Given the description of an element on the screen output the (x, y) to click on. 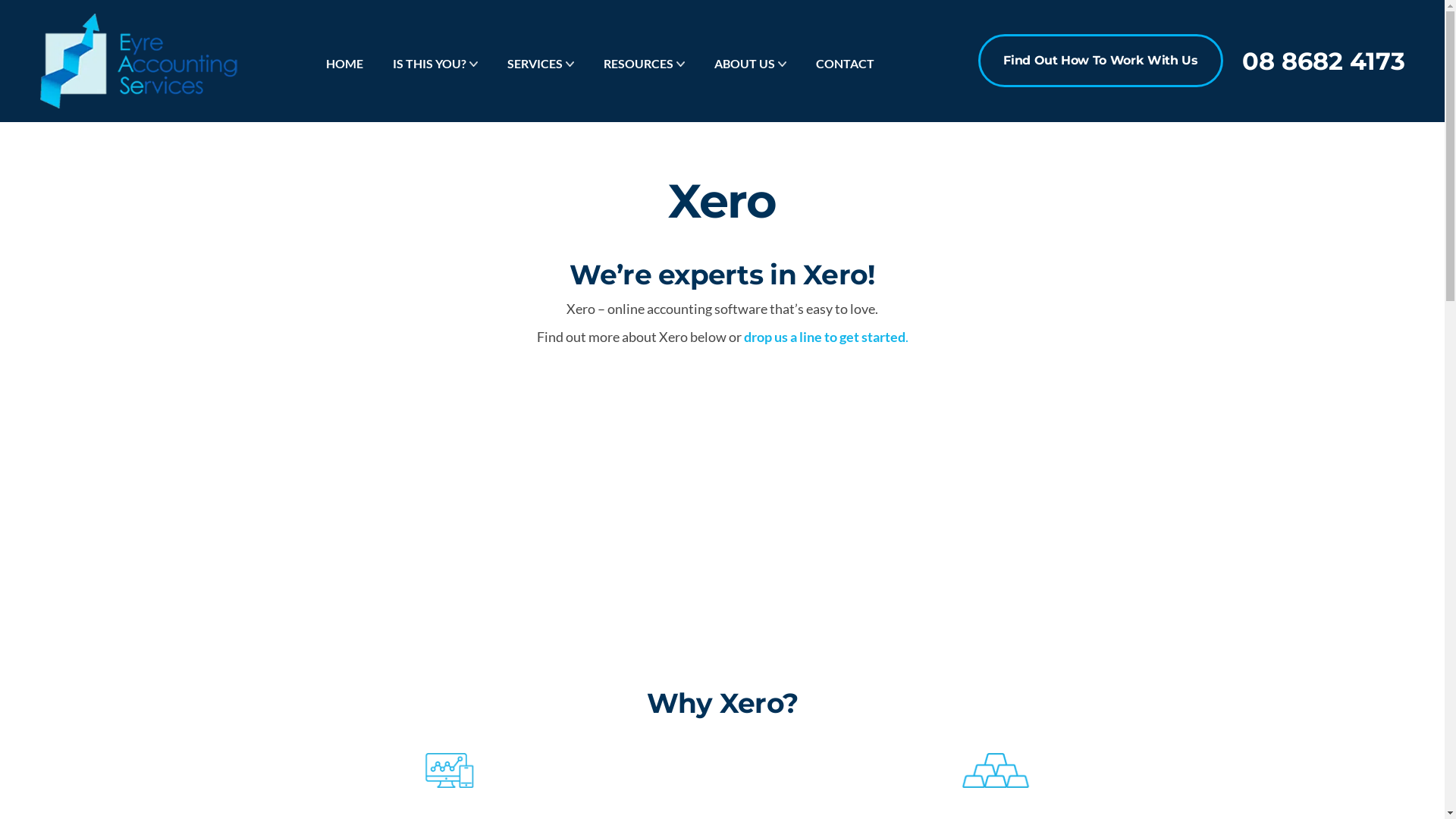
RESOURCES Element type: text (638, 63)
ABOUT US Element type: text (744, 63)
Find Out How To Work With Us Element type: text (1100, 60)
08 8682 4173 Element type: text (1323, 60)
drop us a line to get started Element type: text (823, 336)
SERVICES Element type: text (534, 63)
CONTACT Element type: text (844, 63)
HOME Element type: text (344, 63)
IS THIS YOU? Element type: text (429, 63)
